Given the description of an element on the screen output the (x, y) to click on. 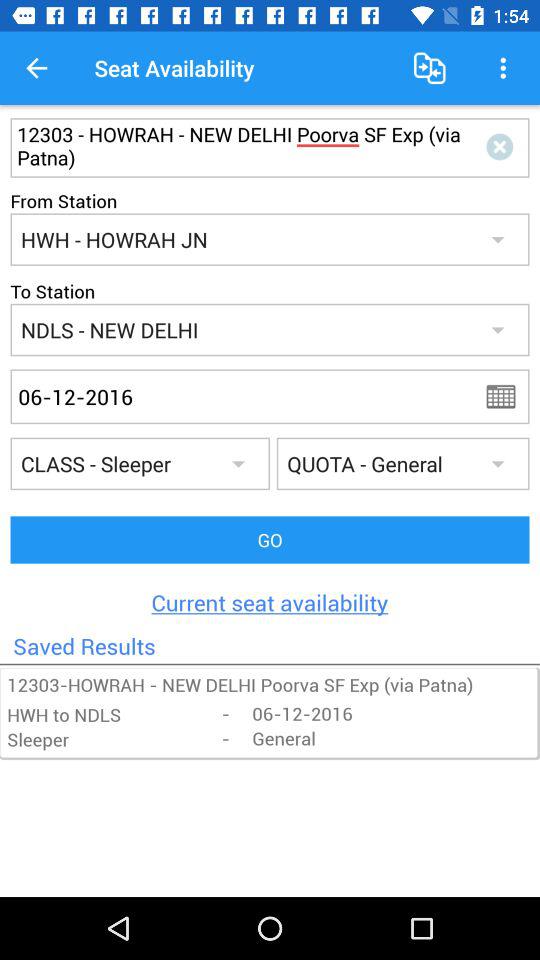
apply date (507, 396)
